Given the description of an element on the screen output the (x, y) to click on. 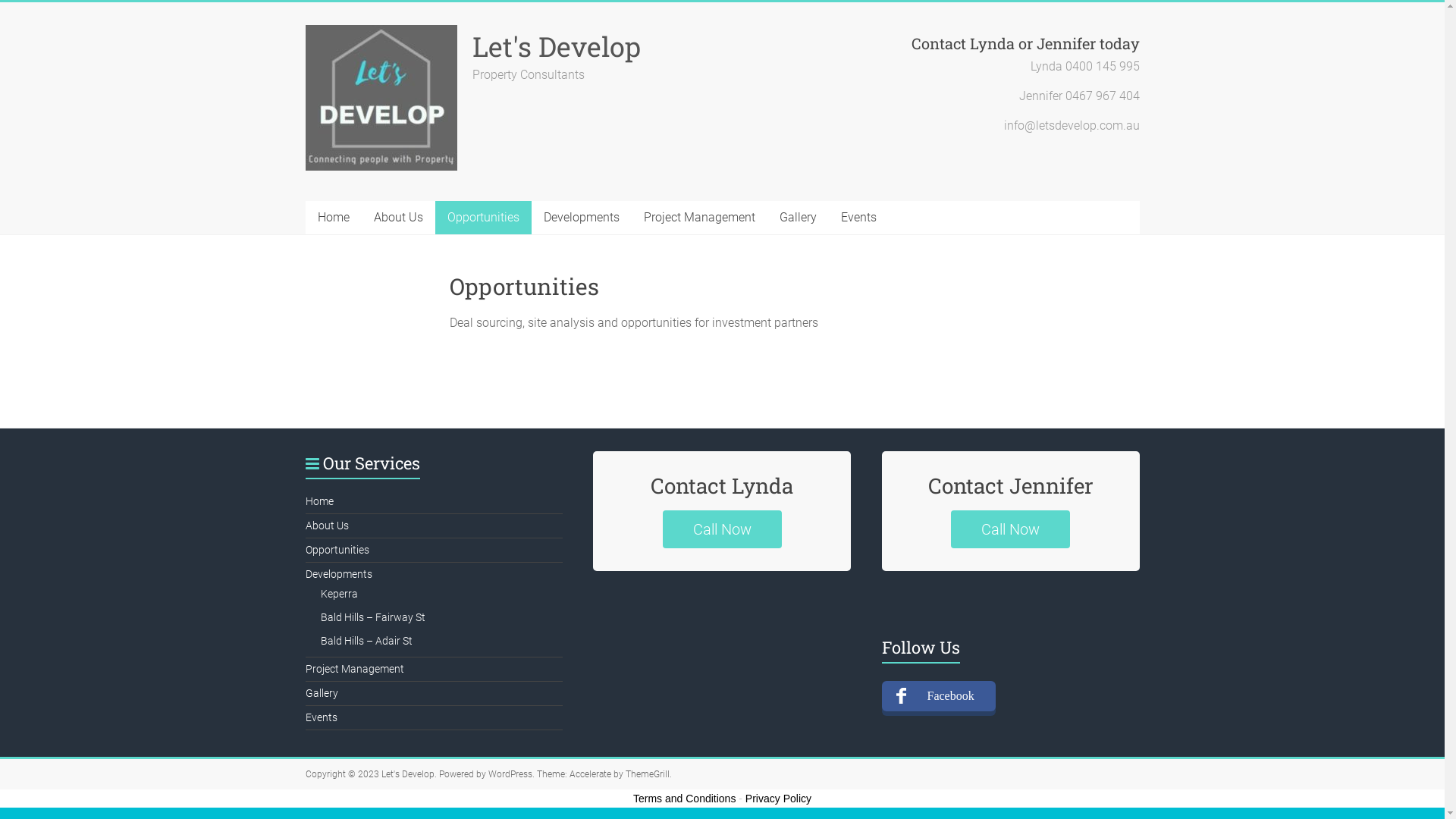
Home Element type: text (332, 217)
About Us Element type: text (326, 525)
Opportunities Element type: text (336, 549)
Events Element type: text (858, 217)
Call Now Element type: text (721, 529)
Let's Develop Element type: text (555, 46)
Gallery Element type: text (320, 693)
Project Management Element type: text (698, 217)
Developments Element type: text (580, 217)
Home Element type: text (318, 501)
Privacy Policy Element type: text (778, 798)
Developments Element type: text (337, 573)
Let's Develop Element type: text (406, 773)
ThemeGrill Element type: text (646, 773)
Facebook Element type: text (938, 695)
Opportunities Element type: text (483, 217)
Call Now Element type: text (1010, 529)
About Us Element type: text (397, 217)
Events Element type: text (320, 717)
Project Management Element type: text (353, 668)
Terms and Conditions Element type: text (684, 798)
Gallery Element type: text (797, 217)
Keperra Element type: text (338, 593)
WordPress Element type: text (510, 773)
